Given the description of an element on the screen output the (x, y) to click on. 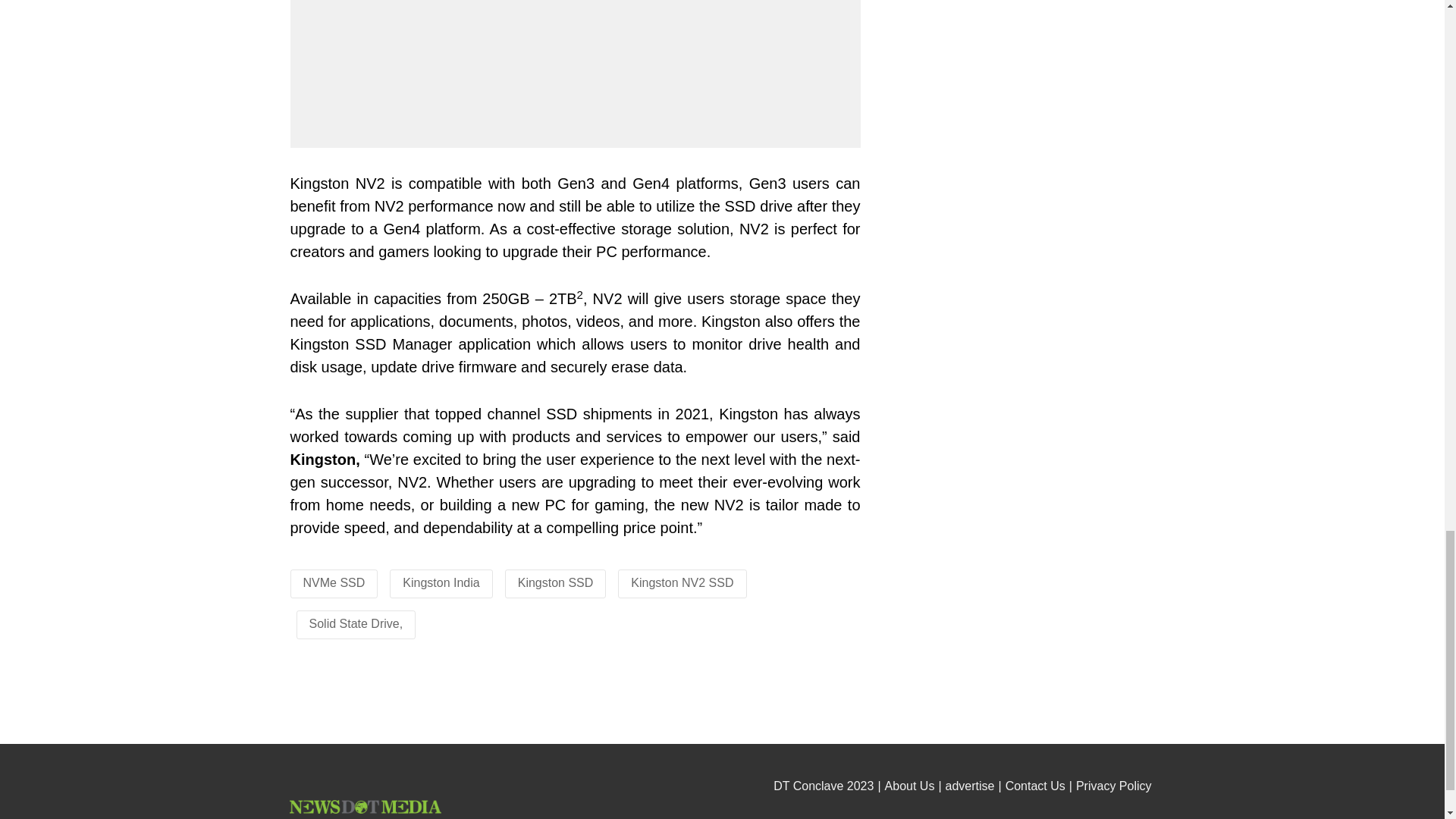
3rd party ad content (722, 703)
Kingston India (441, 582)
3rd party ad content (1015, 108)
Solid State Drive, (355, 623)
Kingston SSD (556, 582)
3rd party ad content (1015, 359)
Kingston NV2 SSD (681, 582)
NVMe SSD (333, 582)
